Given the description of an element on the screen output the (x, y) to click on. 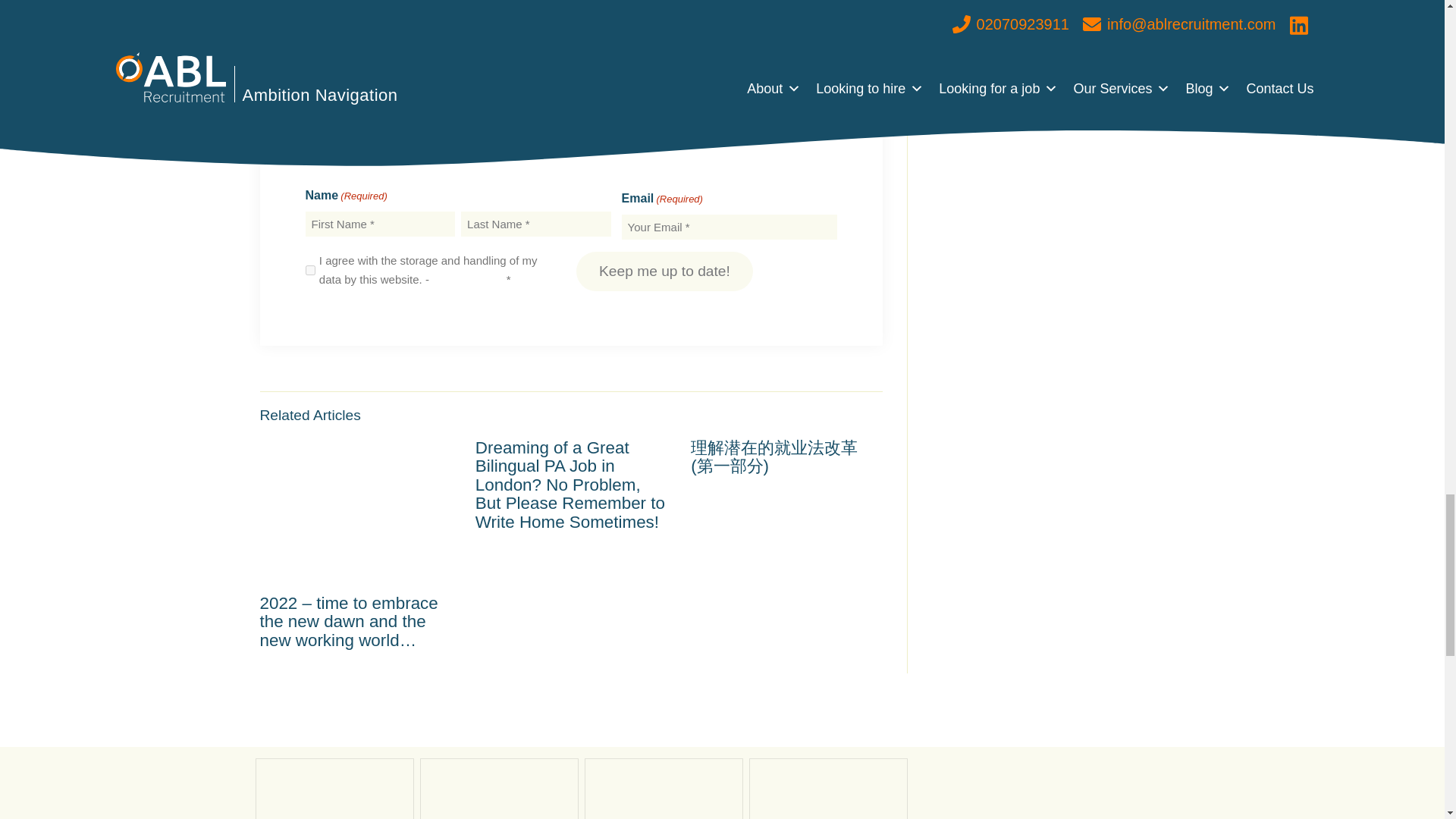
Keep me up to date! (664, 271)
